Given the description of an element on the screen output the (x, y) to click on. 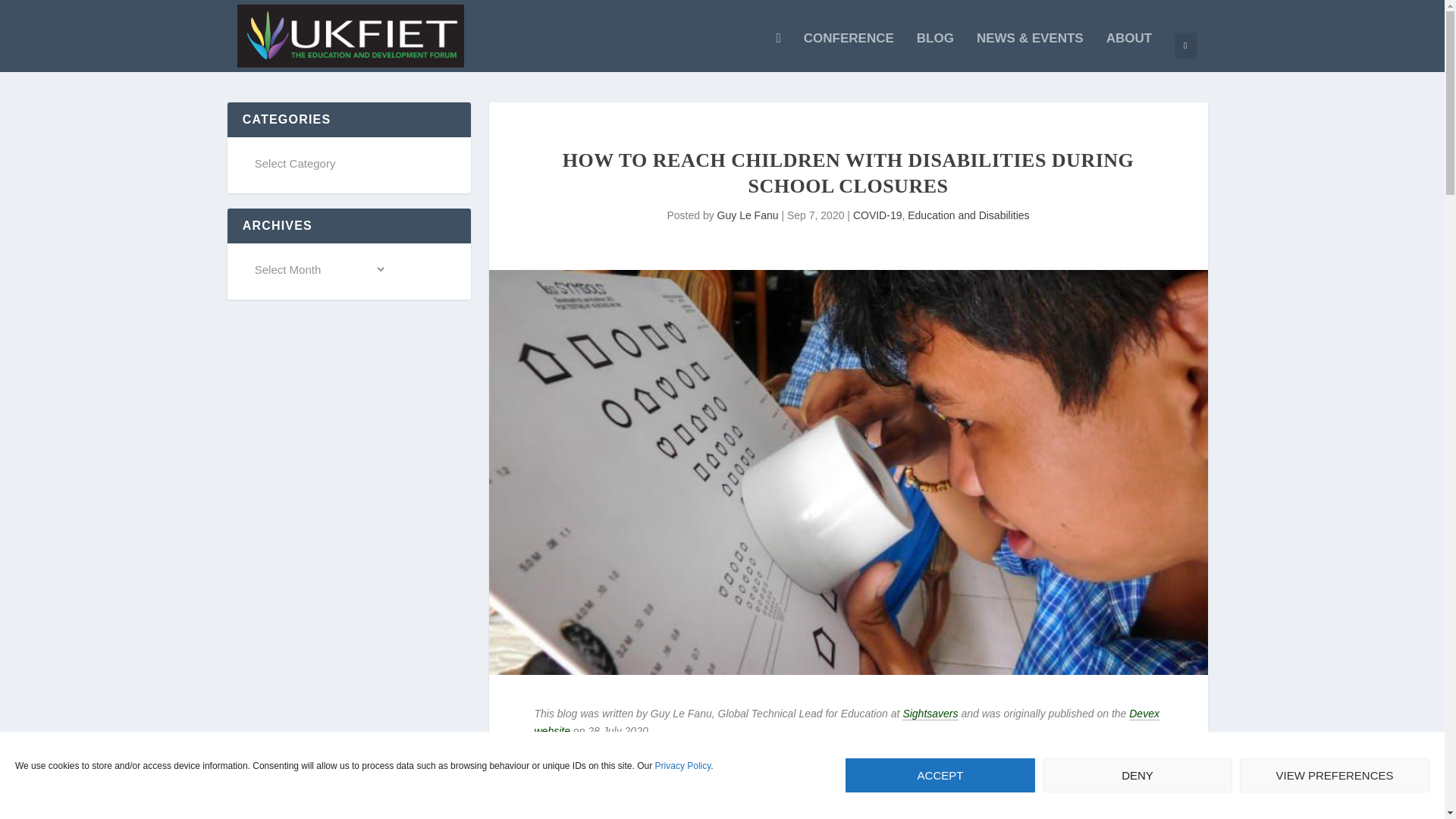
COVID-19 (877, 215)
Devex website (846, 722)
BLOG (935, 52)
Education and Disabilities (968, 215)
most excluded from education (832, 802)
Blog Page (935, 52)
World Bank (1128, 52)
Skip to content (1116, 784)
